Given the description of an element on the screen output the (x, y) to click on. 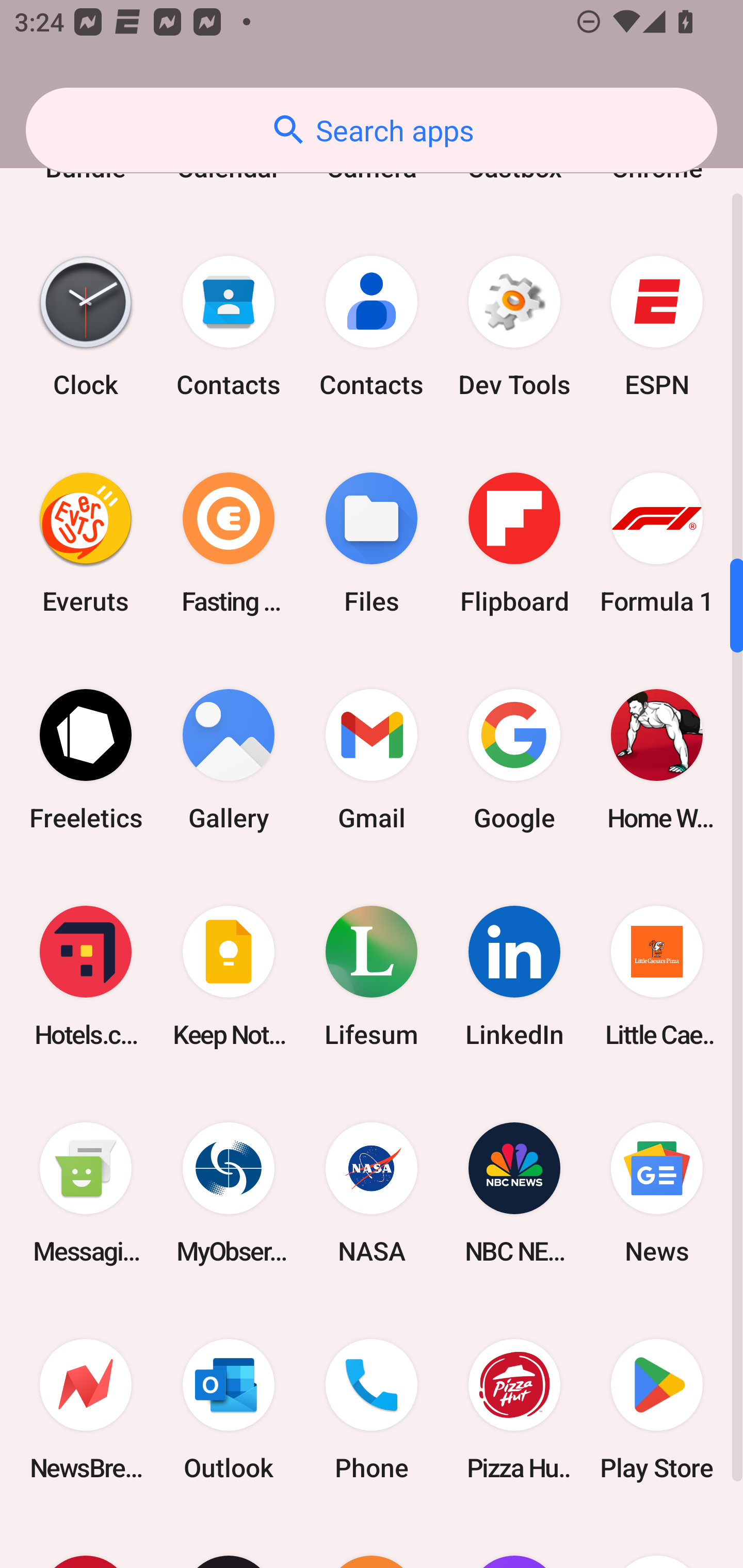
  Search apps (371, 130)
Clock (85, 325)
Contacts (228, 325)
Contacts (371, 325)
Dev Tools (514, 325)
ESPN (656, 325)
Everuts (85, 542)
Fasting Coach (228, 542)
Files (371, 542)
Flipboard (514, 542)
Formula 1 (656, 542)
Freeletics (85, 759)
Gallery (228, 759)
Gmail (371, 759)
Google (514, 759)
Home Workout (656, 759)
Hotels.com (85, 976)
Keep Notes (228, 976)
Lifesum (371, 976)
LinkedIn (514, 976)
Little Caesars Pizza (656, 976)
Messaging (85, 1193)
MyObservatory (228, 1193)
NASA (371, 1193)
NBC NEWS (514, 1193)
News (656, 1193)
NewsBreak (85, 1409)
Outlook (228, 1409)
Phone (371, 1409)
Pizza Hut HK & Macau (514, 1409)
Play Store (656, 1409)
